Given the description of an element on the screen output the (x, y) to click on. 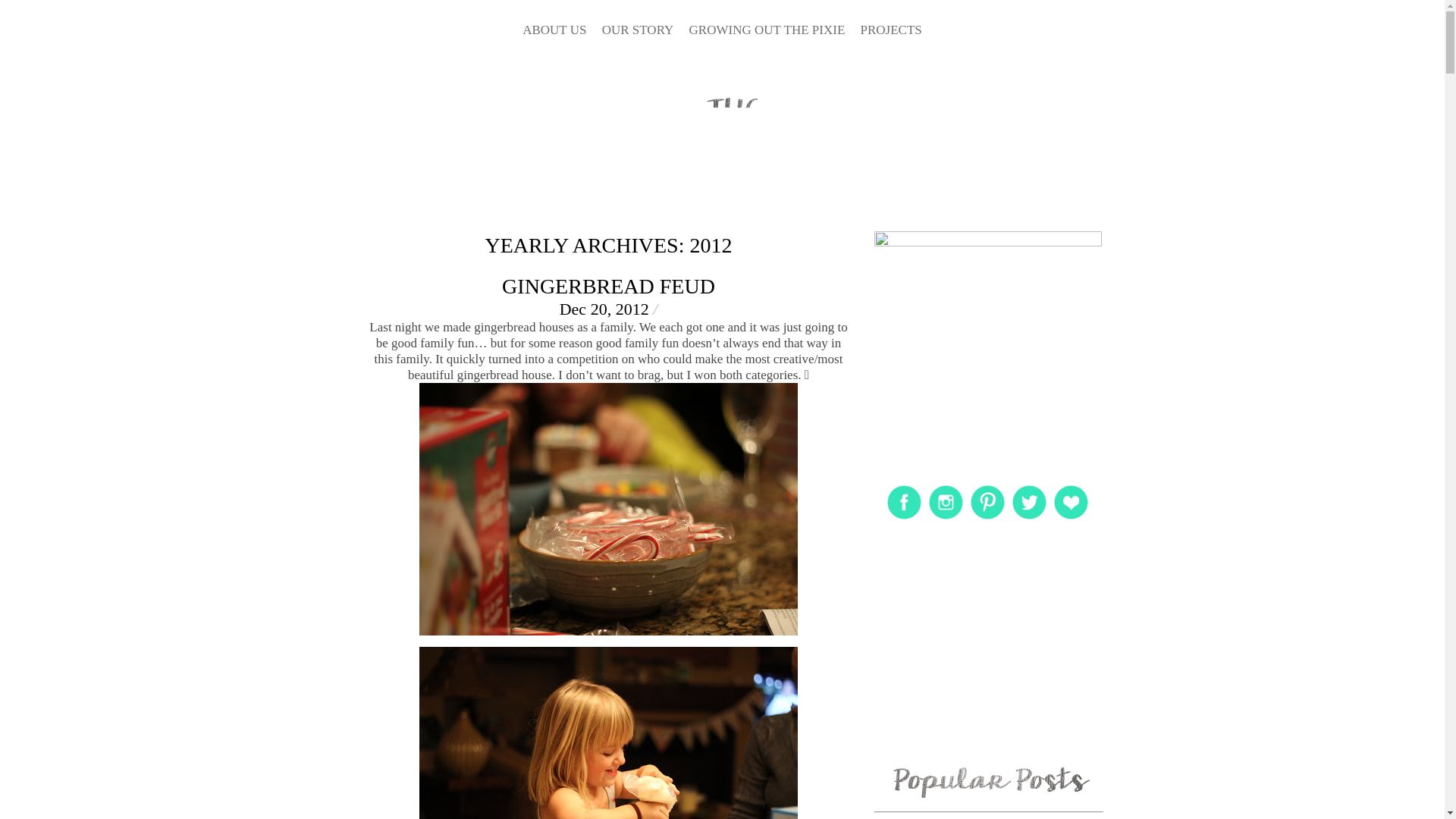
The Jaderstons (737, 141)
Gingerbread Feud (608, 286)
GINGERBREAD FEUD (608, 286)
PROJECTS (890, 27)
ABOUT US (554, 27)
The Jaderstons (737, 217)
Facebook by Kelsey Jaderston, on Flickr (903, 518)
OUR STORY (638, 27)
GROWING OUT THE PIXIE (766, 27)
